Given the description of an element on the screen output the (x, y) to click on. 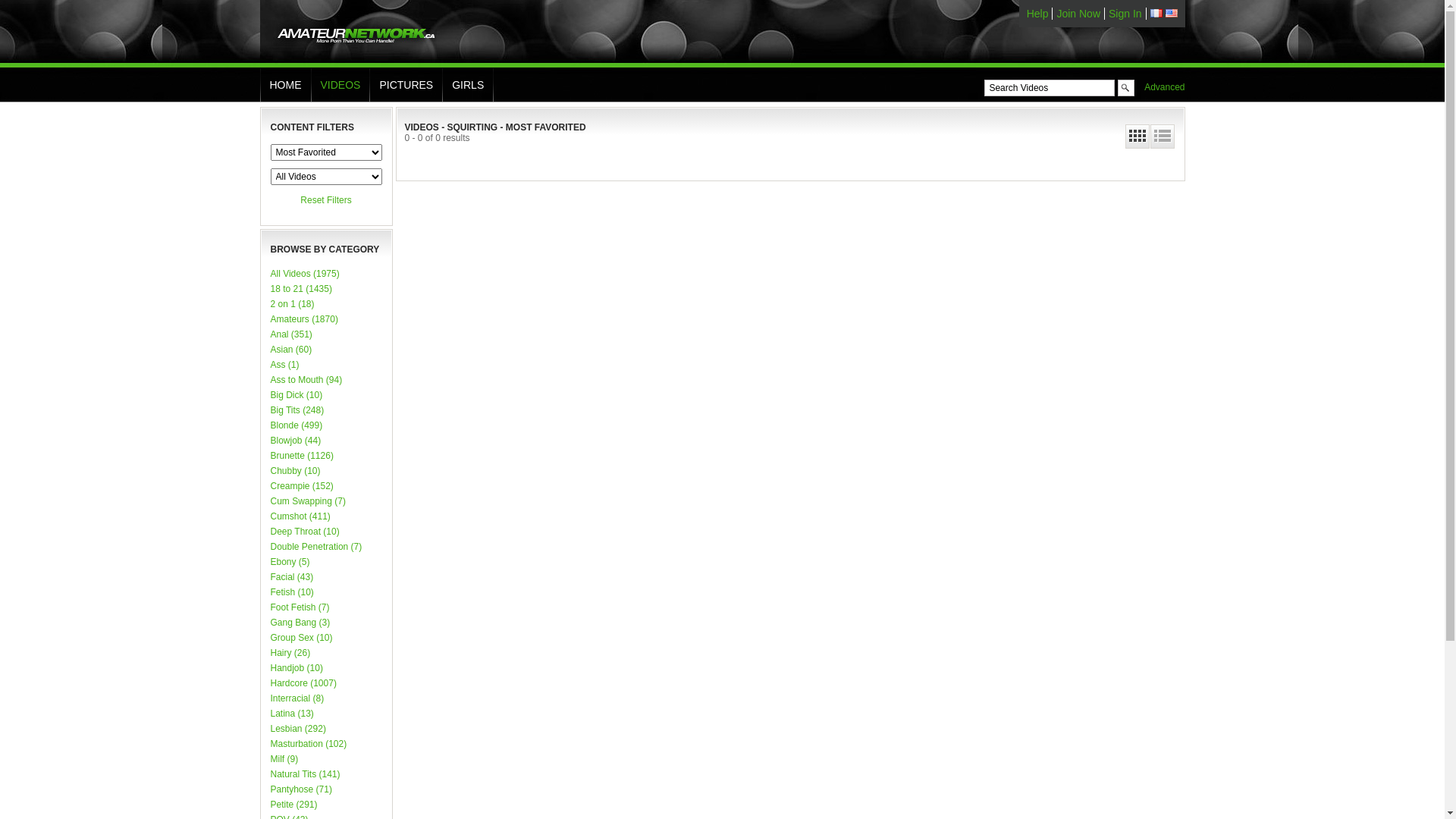
Blowjob (44) Element type: text (325, 440)
18 to 21 (1435) Element type: text (325, 288)
Ass (1) Element type: text (325, 364)
PICTURES Element type: text (406, 84)
Ebony (5) Element type: text (325, 561)
Search Videos Element type: text (1049, 87)
Help Element type: text (1037, 13)
Big Tits (248) Element type: text (325, 409)
Amateurs (1870) Element type: text (325, 318)
Natural Tits (141) Element type: text (325, 773)
2 on 1 (18) Element type: text (325, 303)
Handjob (10) Element type: text (325, 667)
Deep Throat (10) Element type: text (325, 531)
Ass to Mouth (94) Element type: text (325, 379)
Chubby (10) Element type: text (325, 470)
Anal (351) Element type: text (325, 334)
Pantyhose (71) Element type: text (325, 789)
Fetish (10) Element type: text (325, 591)
Facial (43) Element type: text (325, 576)
Lesbian (292) Element type: text (325, 728)
Reset Filters Element type: text (325, 199)
Latina (13) Element type: text (325, 713)
Gang Bang (3) Element type: text (325, 622)
GIRLS Element type: text (467, 84)
Hairy (26) Element type: text (325, 652)
All Videos (1975) Element type: text (325, 273)
Foot Fetish (7) Element type: text (325, 607)
VIDEOS Element type: text (339, 84)
Blonde (499) Element type: text (325, 425)
Creampie (152) Element type: text (325, 485)
Milf (9) Element type: text (325, 758)
HOME Element type: text (285, 84)
Join Now Element type: text (1078, 13)
Group Sex (10) Element type: text (325, 637)
Hardcore (1007) Element type: text (325, 682)
Petite (291) Element type: text (325, 804)
Cum Swapping (7) Element type: text (325, 500)
Interracial (8) Element type: text (325, 698)
Masturbation (102) Element type: text (325, 743)
Brunette (1126) Element type: text (325, 455)
Big Dick (10) Element type: text (325, 394)
Sign In Element type: text (1125, 13)
Double Penetration (7) Element type: text (325, 546)
Asian (60) Element type: text (325, 349)
Advanced Element type: text (1160, 86)
Cumshot (411) Element type: text (325, 516)
